Given the description of an element on the screen output the (x, y) to click on. 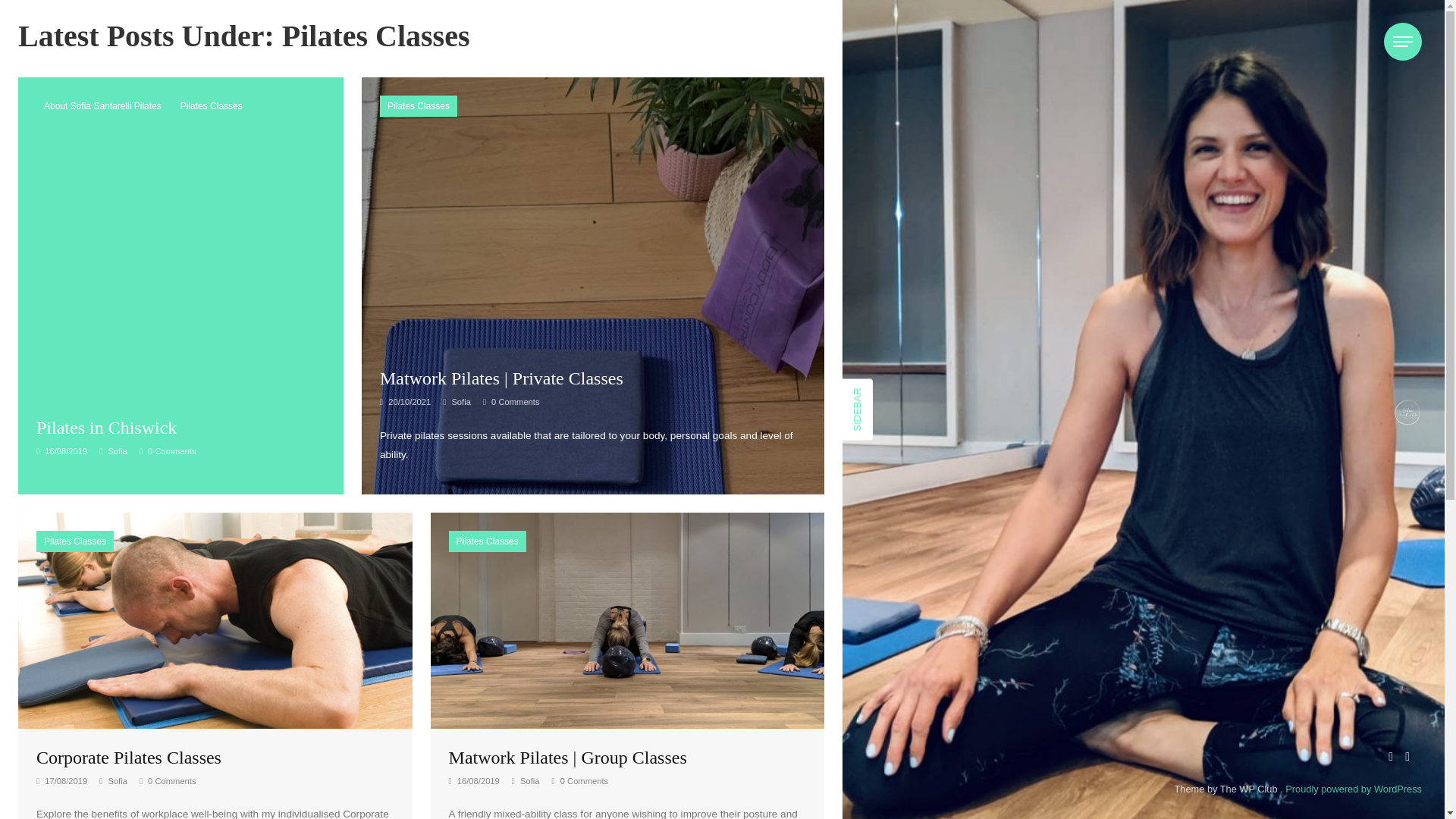
Pilates in Chiswick (106, 427)
Search (764, 54)
Proudly powered by WordPress (1353, 788)
Corporate Pilates Classes (214, 619)
Sofia (113, 450)
Pilates in Chiswick (106, 427)
Sofia (526, 780)
Sofia (113, 780)
Corporate Pilates Classes (128, 757)
About Sofia Santarelli Pilates (102, 106)
SIDEBAR (873, 393)
Pilates Classes (211, 106)
Pilates Classes (418, 106)
Pilates Classes (74, 541)
Sofia (456, 401)
